Given the description of an element on the screen output the (x, y) to click on. 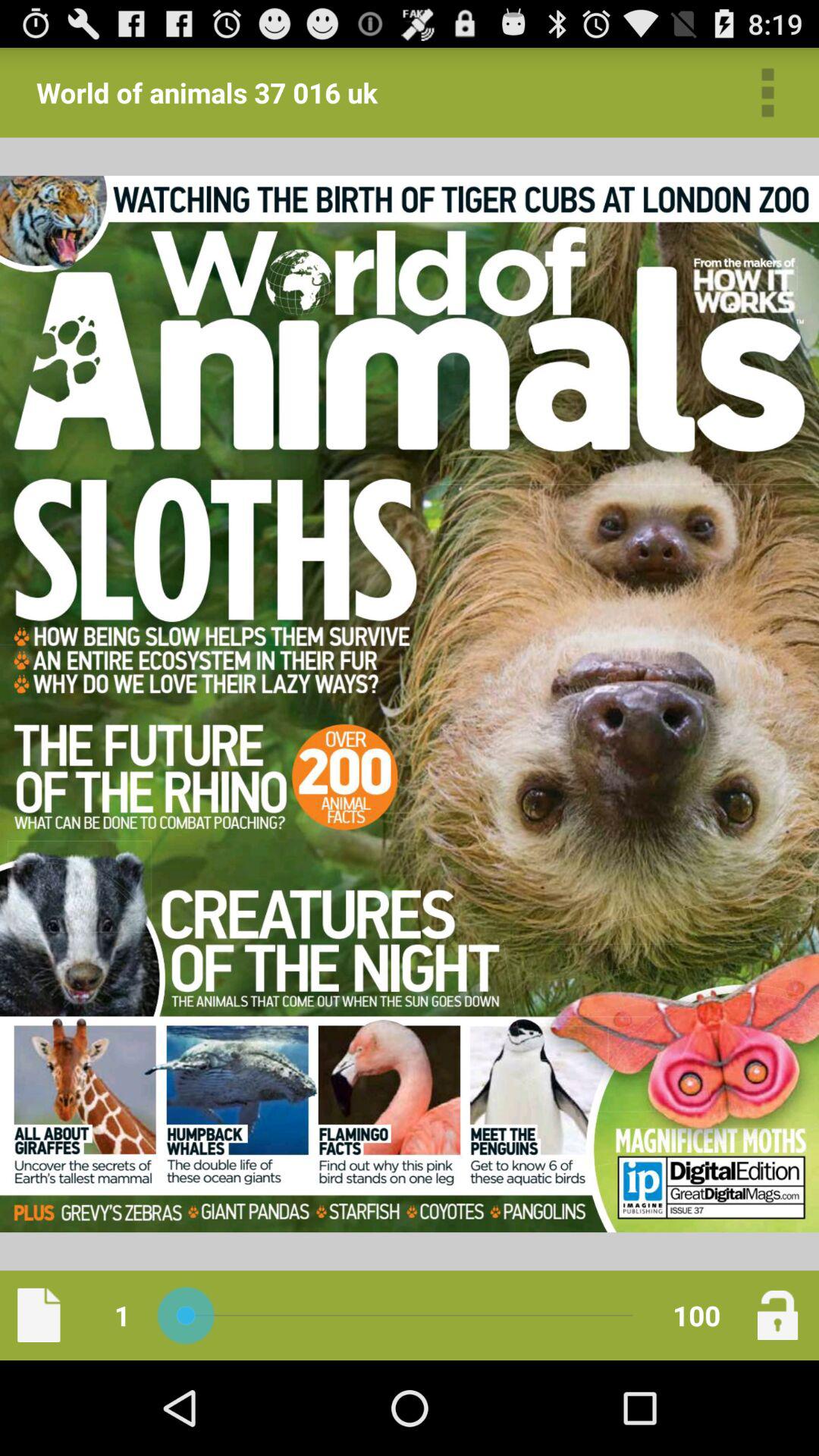
toggle document option (38, 1315)
